Given the description of an element on the screen output the (x, y) to click on. 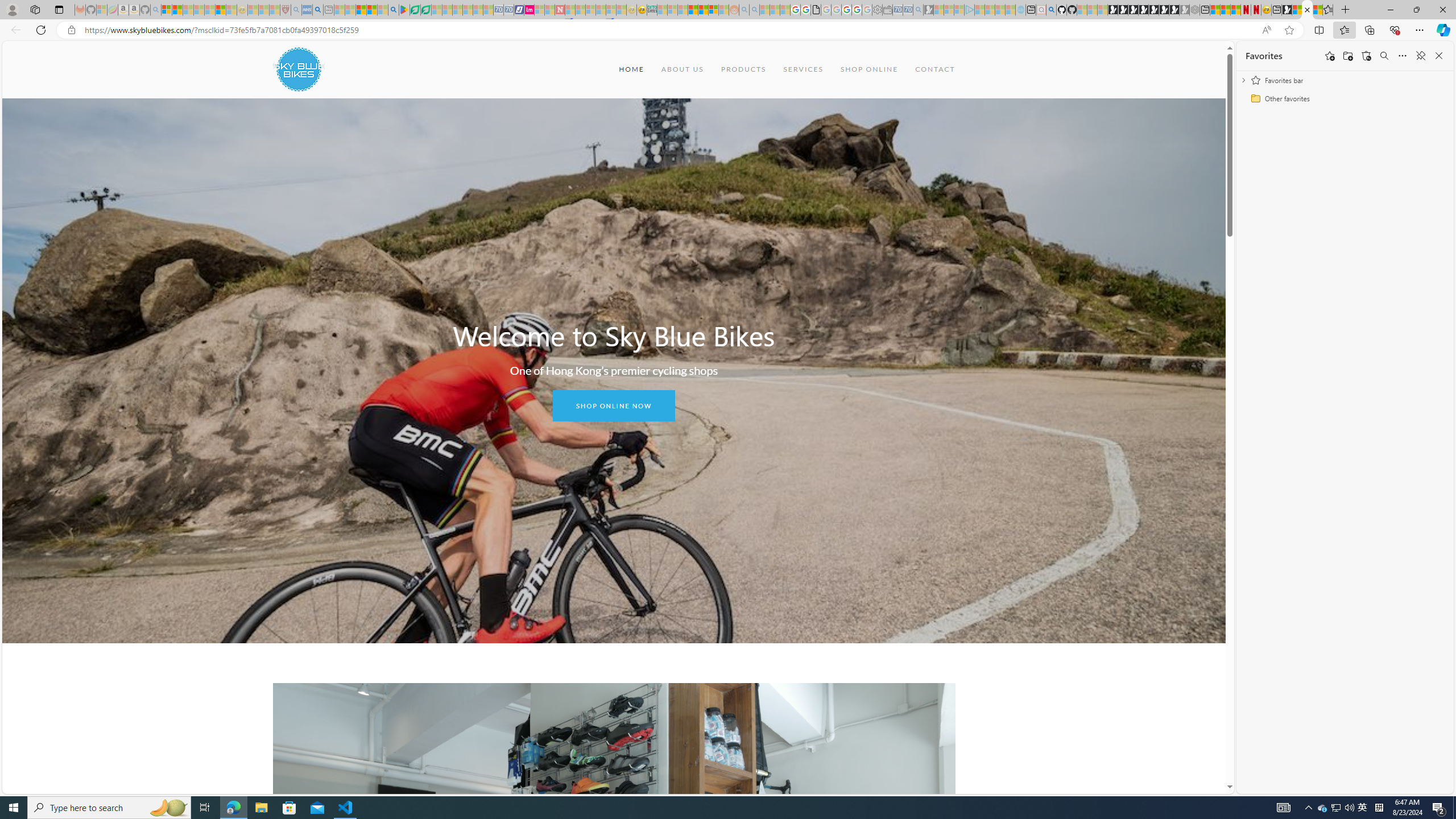
MSNBC - MSN - Sleeping (662, 9)
Utah sues federal government - Search - Sleeping (754, 9)
google_privacy_policy_zh-CN.pdf (815, 9)
Microsoft Start - Sleeping (1000, 9)
PRODUCTS (742, 68)
ABOUT US (681, 68)
Latest Politics News & Archive | Newsweek.com - Sleeping (559, 9)
